Given the description of an element on the screen output the (x, y) to click on. 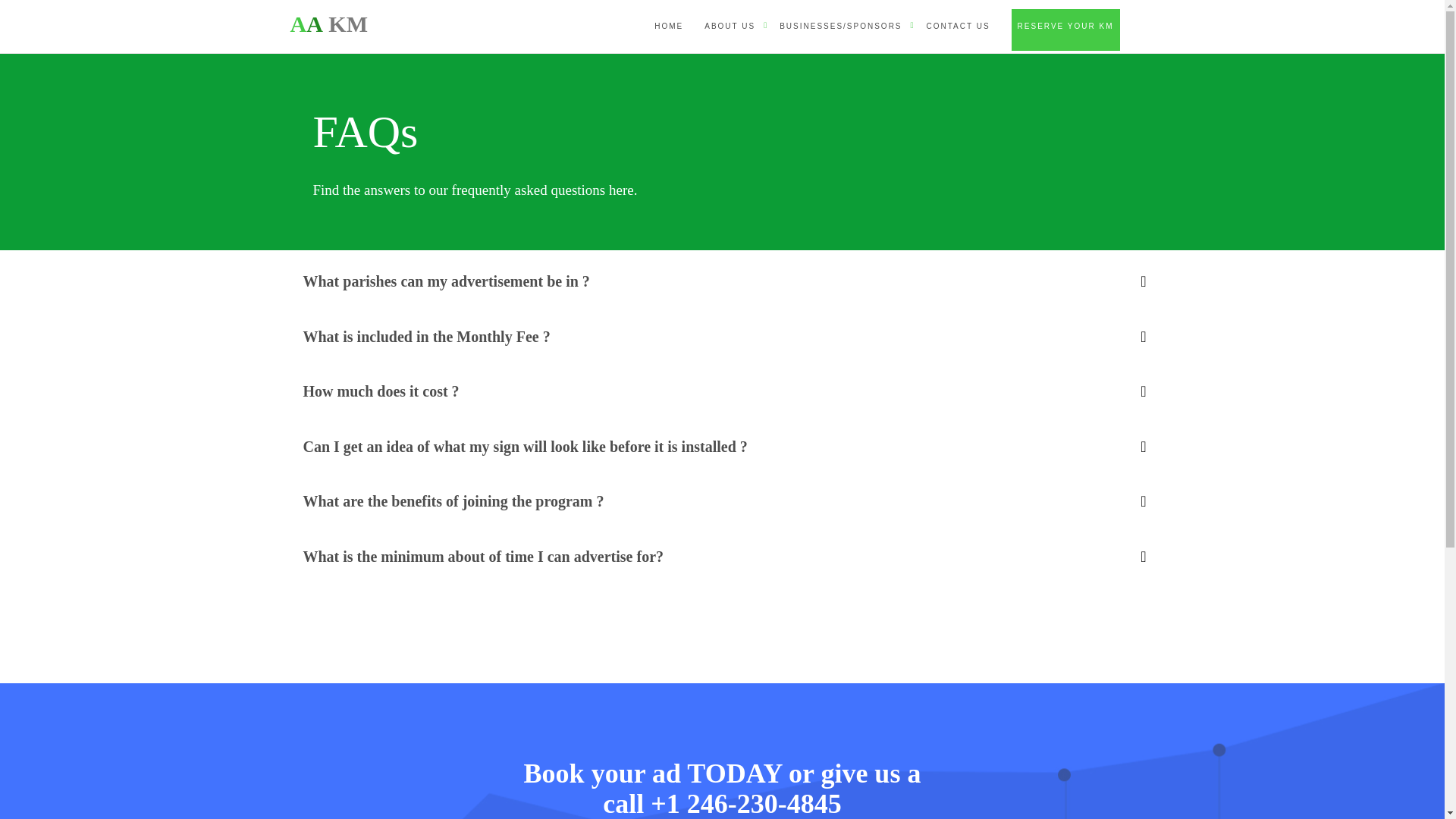
Contact Us (958, 26)
Reserve your KM (1065, 29)
About Us (729, 26)
RESERVE YOUR KM (328, 20)
ABOUT US (1065, 29)
CONTACT US (729, 26)
